Given the description of an element on the screen output the (x, y) to click on. 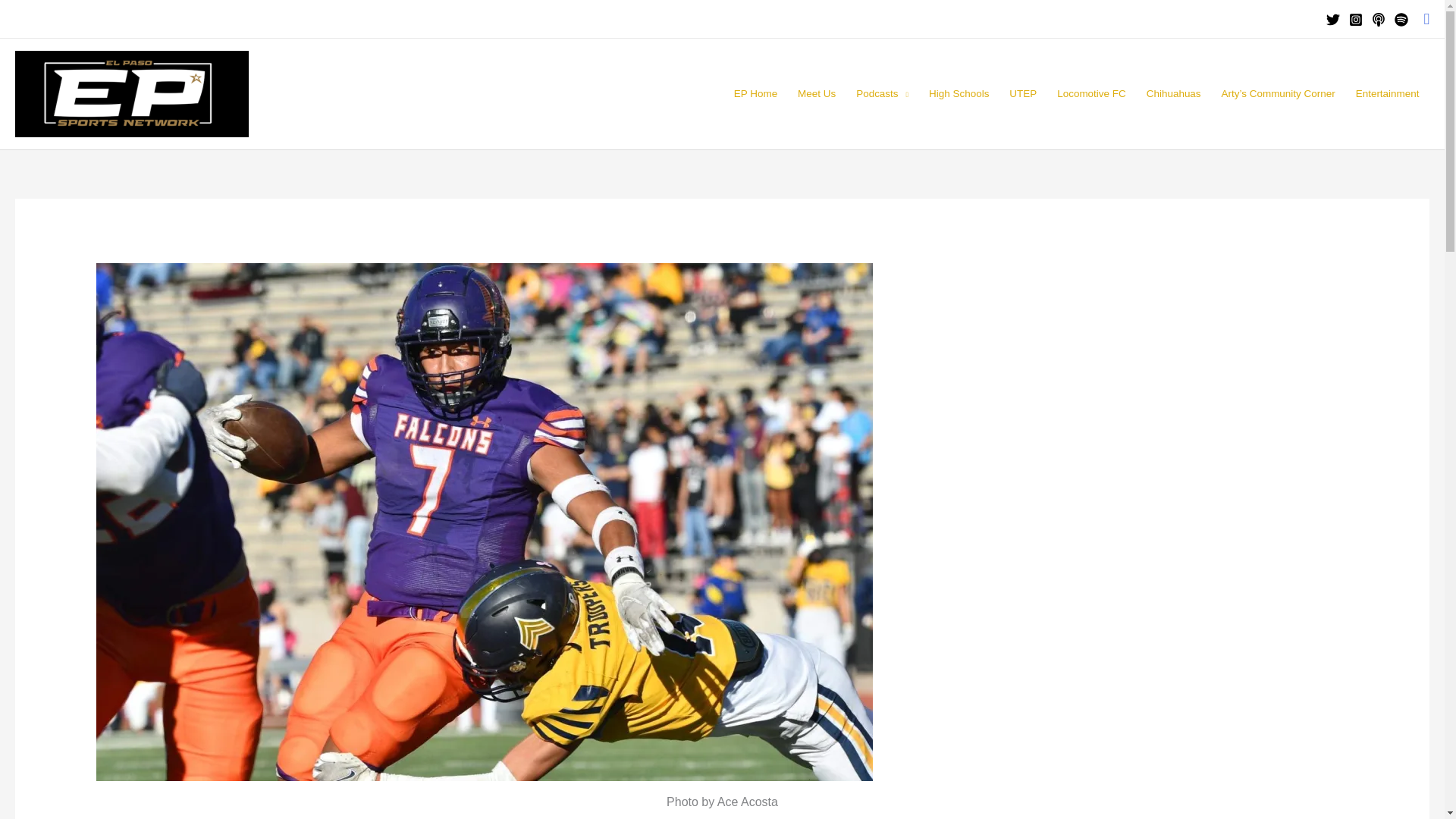
UTEP (1022, 93)
Chihuahuas (1173, 93)
EP Home (755, 93)
Locomotive FC (1091, 93)
Entertainment (1387, 93)
High Schools (958, 93)
Meet Us (816, 93)
Podcasts (881, 93)
